Given the description of an element on the screen output the (x, y) to click on. 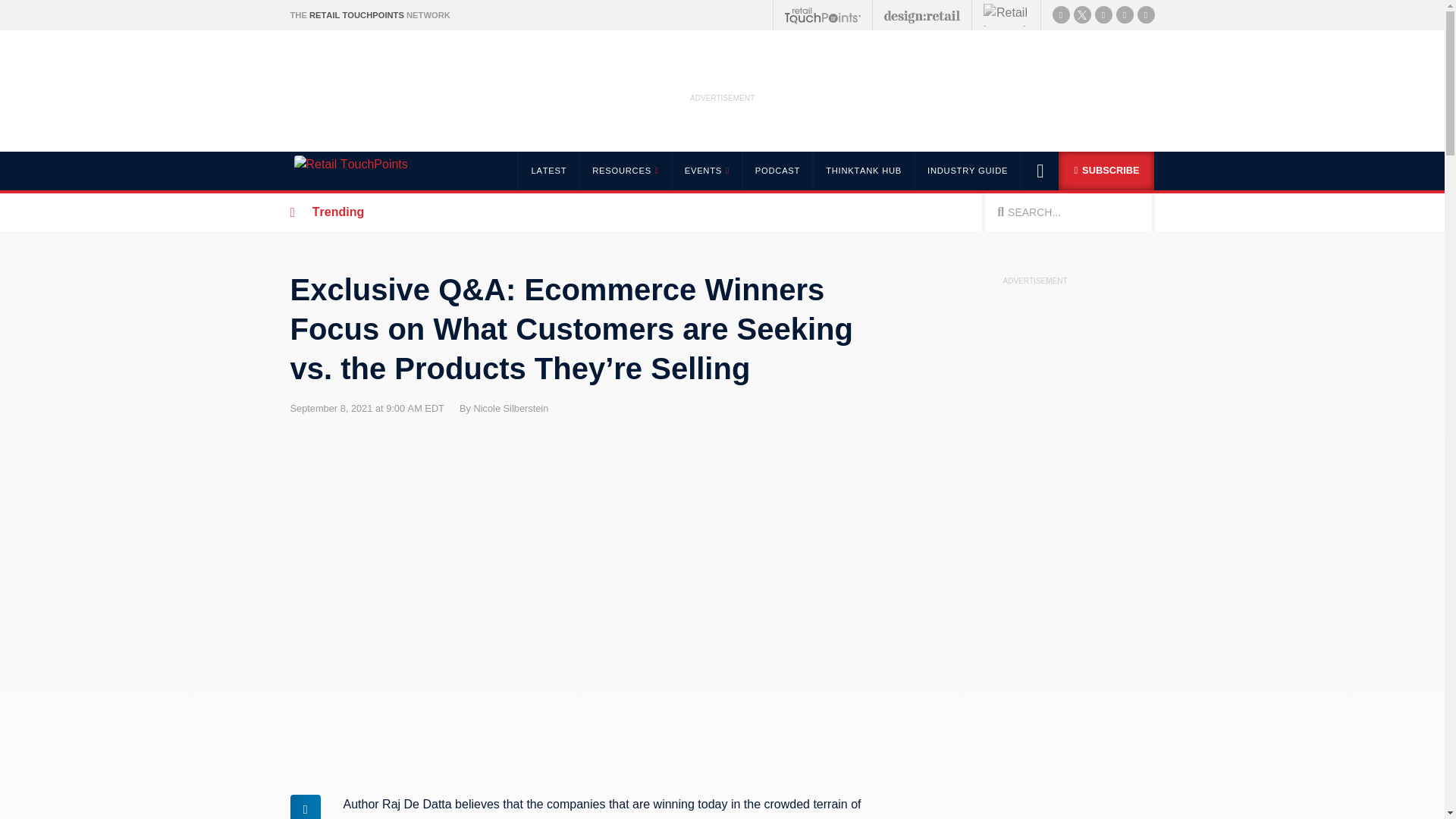
EVENTS (706, 170)
THINKTANK HUB (863, 170)
LATEST (547, 170)
PODCAST (776, 170)
RESOURCES (623, 170)
INDUSTRY GUIDE (968, 170)
